Given the description of an element on the screen output the (x, y) to click on. 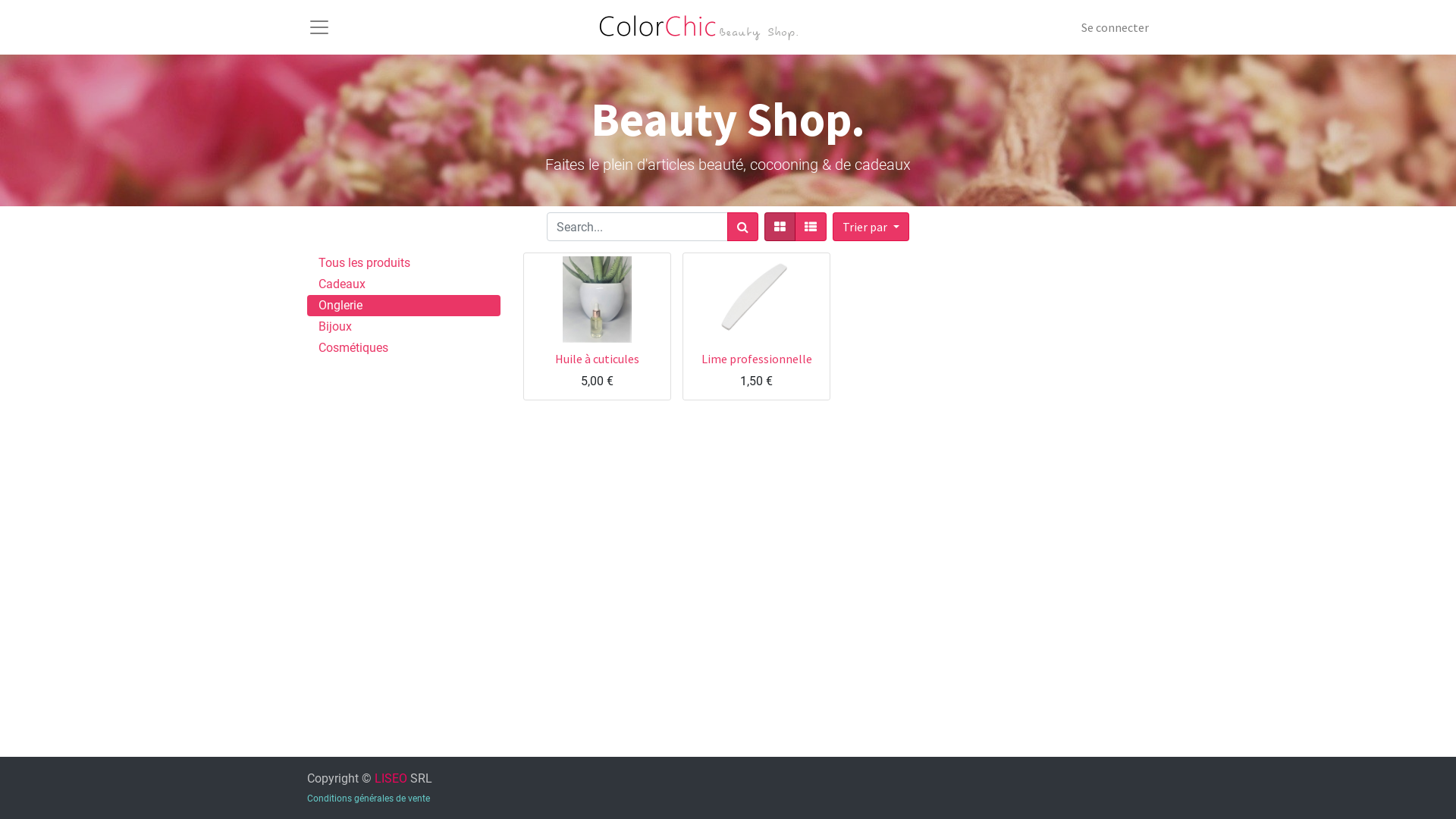
Tarifs Element type: hover (779, 226)
Liste Element type: hover (810, 226)
Rechercher Element type: hover (742, 226)
Panier Element type: hover (771, 342)
Panier Element type: hover (612, 342)
Cadeaux Element type: text (403, 283)
Trier par Element type: text (870, 226)
Onglerie Element type: text (403, 305)
Tous les produits Element type: text (403, 262)
Institut Colorchic Element type: hover (706, 27)
LISEO Element type: text (390, 778)
Se connecter Element type: text (1114, 27)
Lime professionnelle Element type: text (755, 358)
Bijoux Element type: text (403, 326)
